Given the description of an element on the screen output the (x, y) to click on. 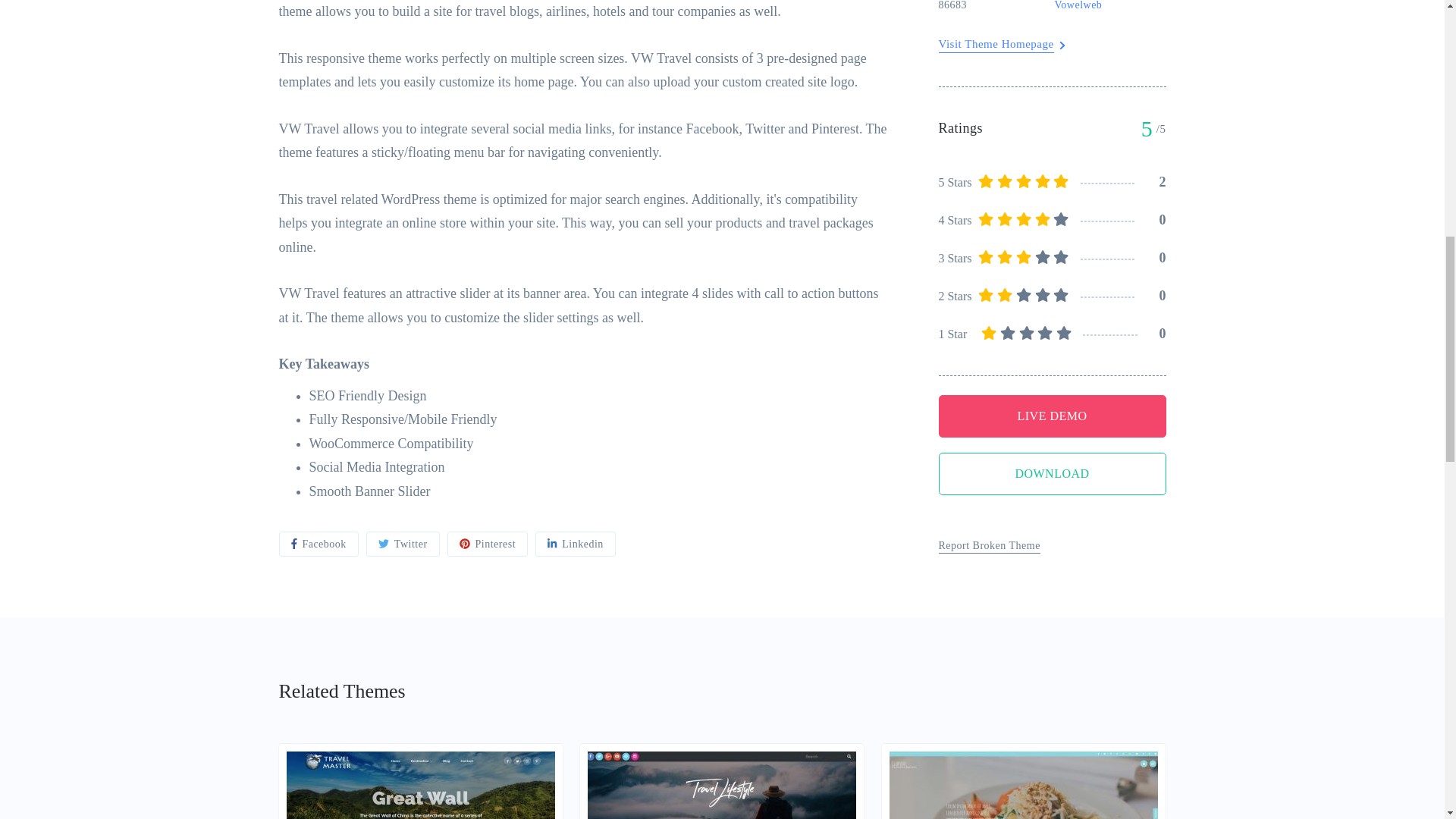
twitter (402, 543)
linkedin (575, 543)
Report Broken Theme (990, 155)
DOWNLOAD (1052, 82)
LIVE DEMO (1052, 24)
pinterest (487, 543)
facebook (318, 543)
